Given the description of an element on the screen output the (x, y) to click on. 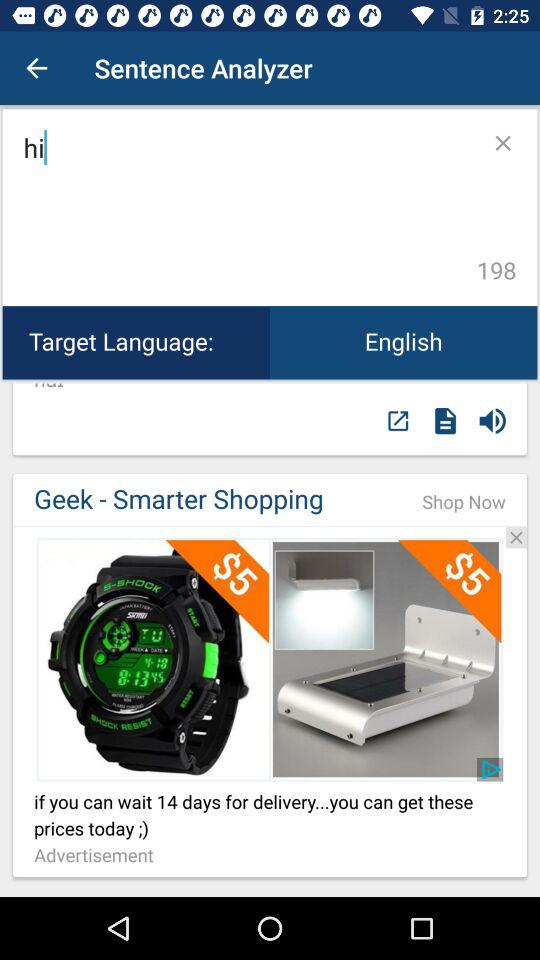
select item to the left of 198 item (246, 207)
